Given the description of an element on the screen output the (x, y) to click on. 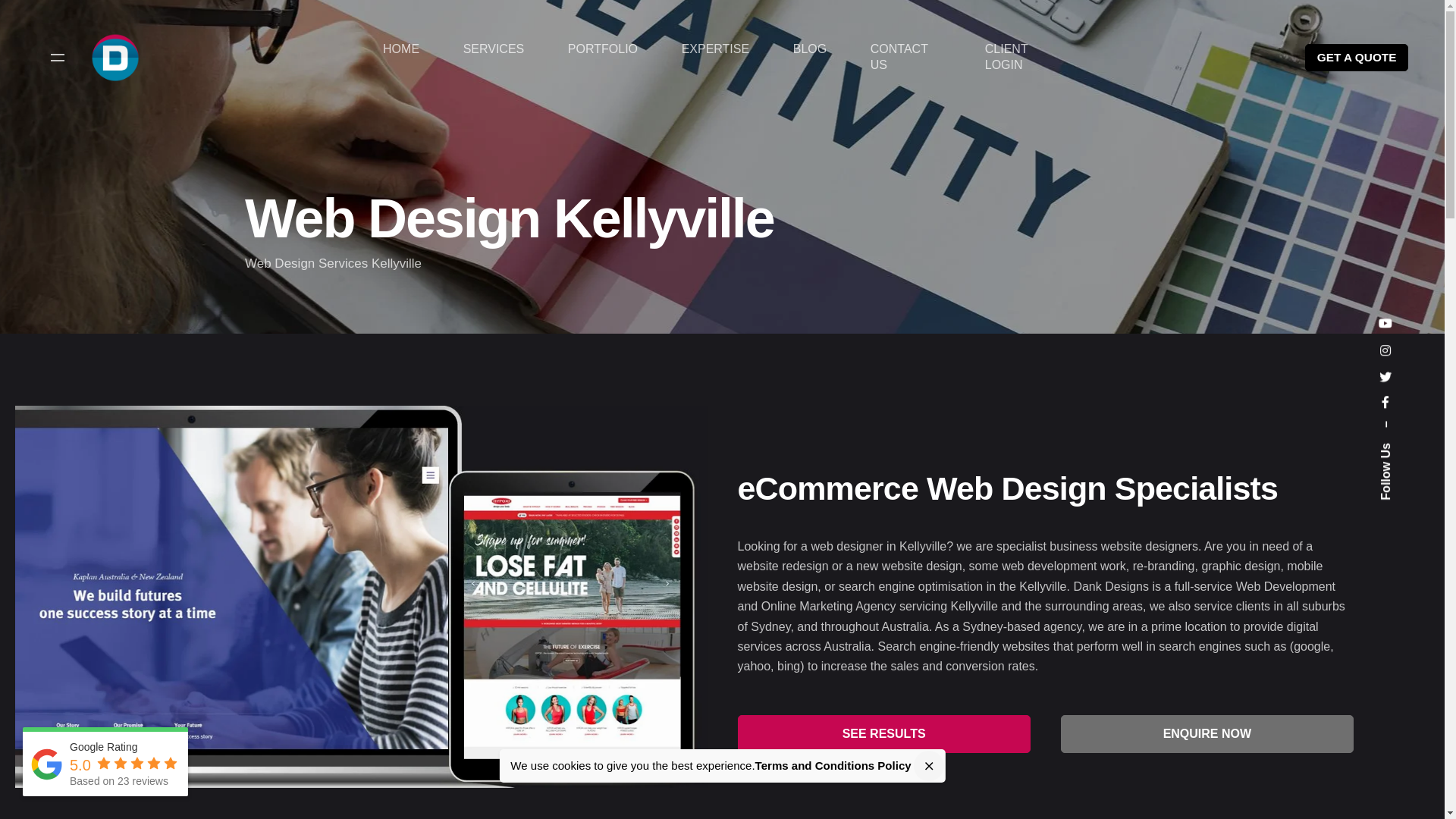
BLOG Element type: text (809, 49)
SEE RESULTS Element type: text (883, 734)
PORTFOLIO Element type: text (602, 49)
GET A QUOTE Element type: text (1356, 57)
CONTACT US Element type: text (905, 57)
HOME Element type: text (400, 49)
CLIENT LOGIN Element type: text (1023, 57)
Terms and Conditions Policy Element type: text (833, 765)
EXPERTISE Element type: text (715, 49)
SERVICES Element type: text (493, 49)
ENQUIRE NOW Element type: text (1206, 734)
